Given the description of an element on the screen output the (x, y) to click on. 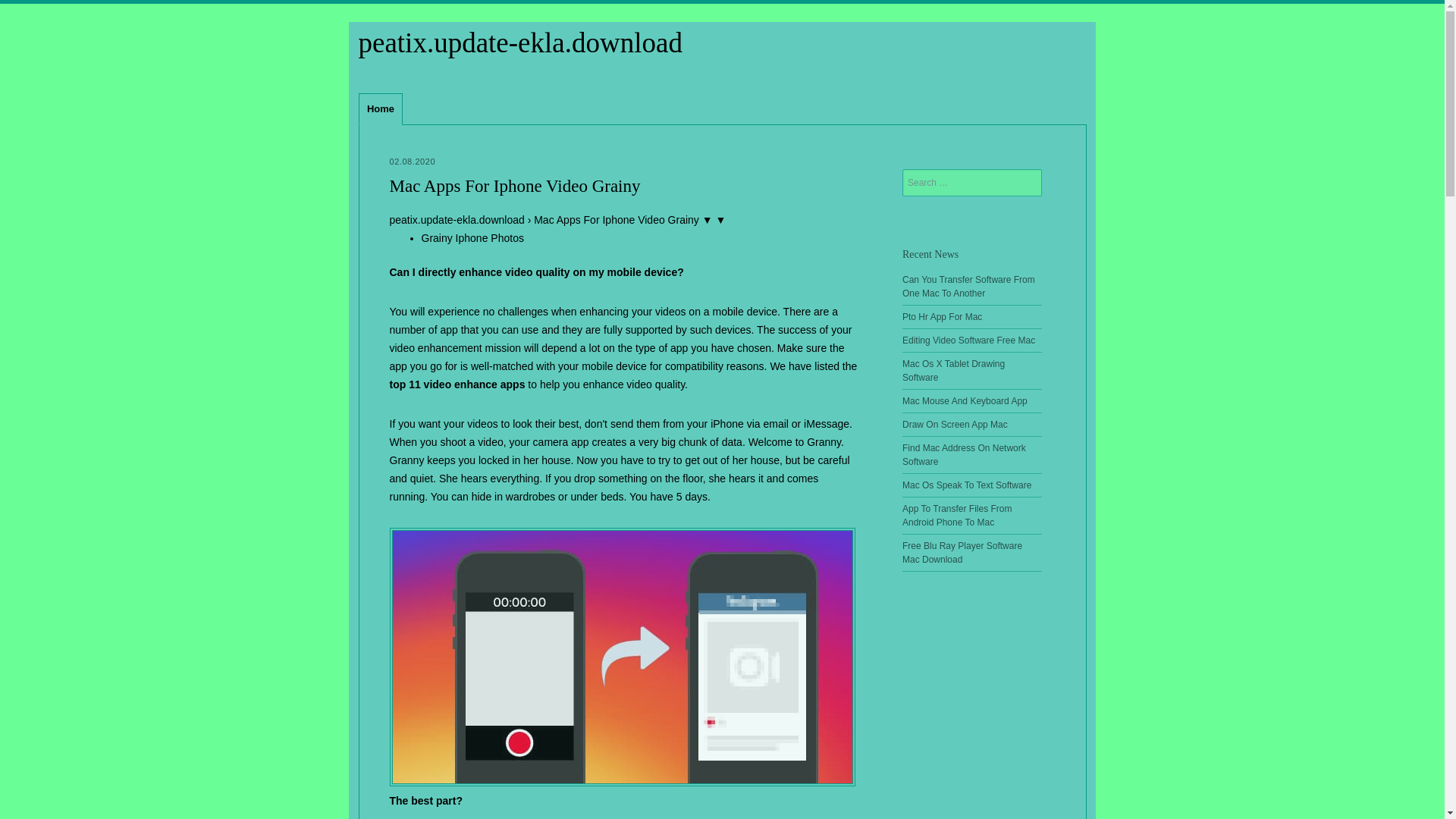
02.08.2020 (412, 161)
Find Mac Address On Network Software (964, 454)
Editing Video Software Free Mac (968, 339)
Search (19, 8)
Draw On Screen App Mac (954, 424)
peatix.update-ekla.download (519, 42)
Can You Transfer Software From One Mac To Another (968, 286)
Grainy iphone photos (623, 656)
Home (380, 109)
Mac Mouse And Keyboard App (964, 400)
